Given the description of an element on the screen output the (x, y) to click on. 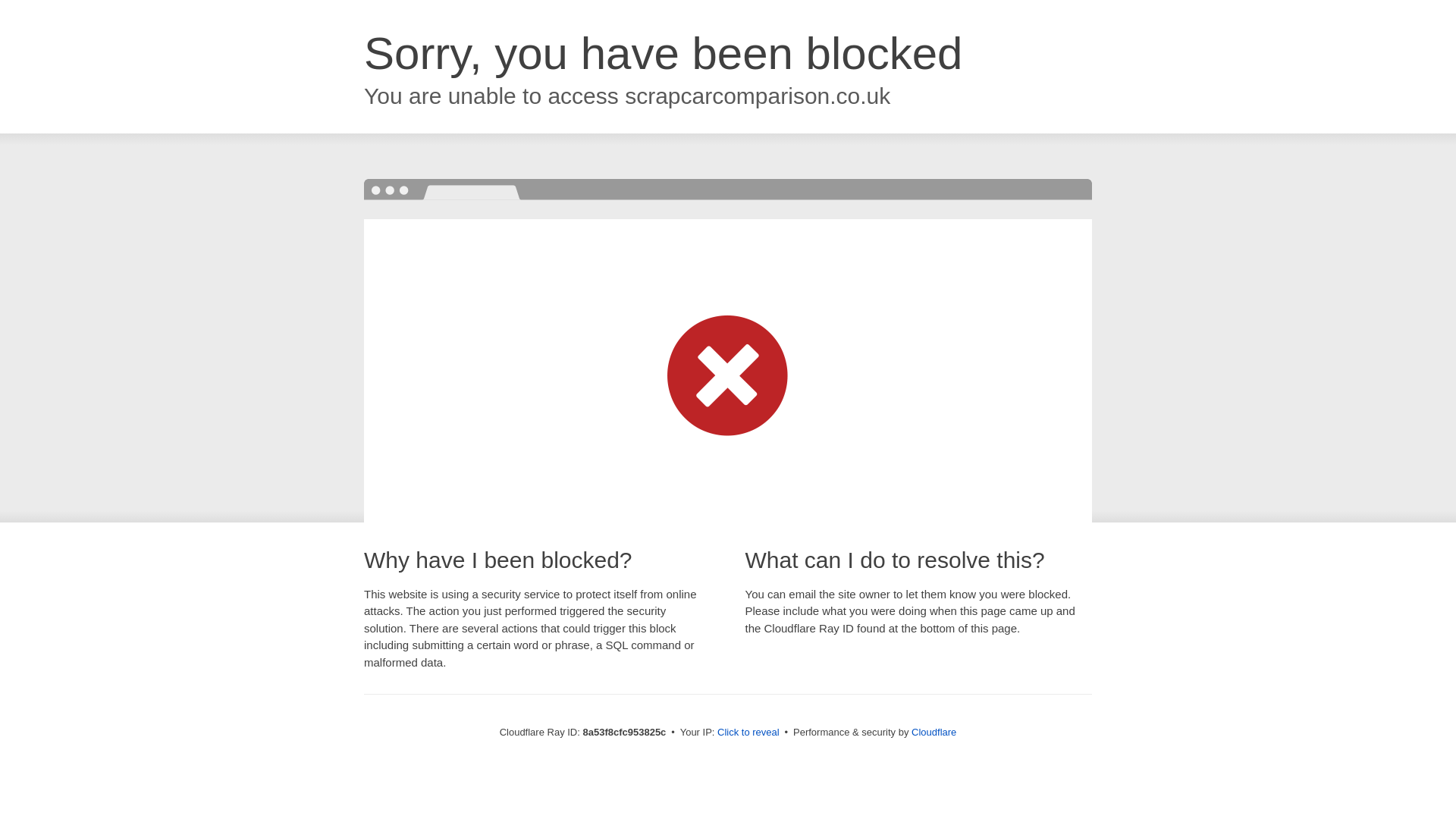
Cloudflare (933, 731)
Click to reveal (747, 732)
